Given the description of an element on the screen output the (x, y) to click on. 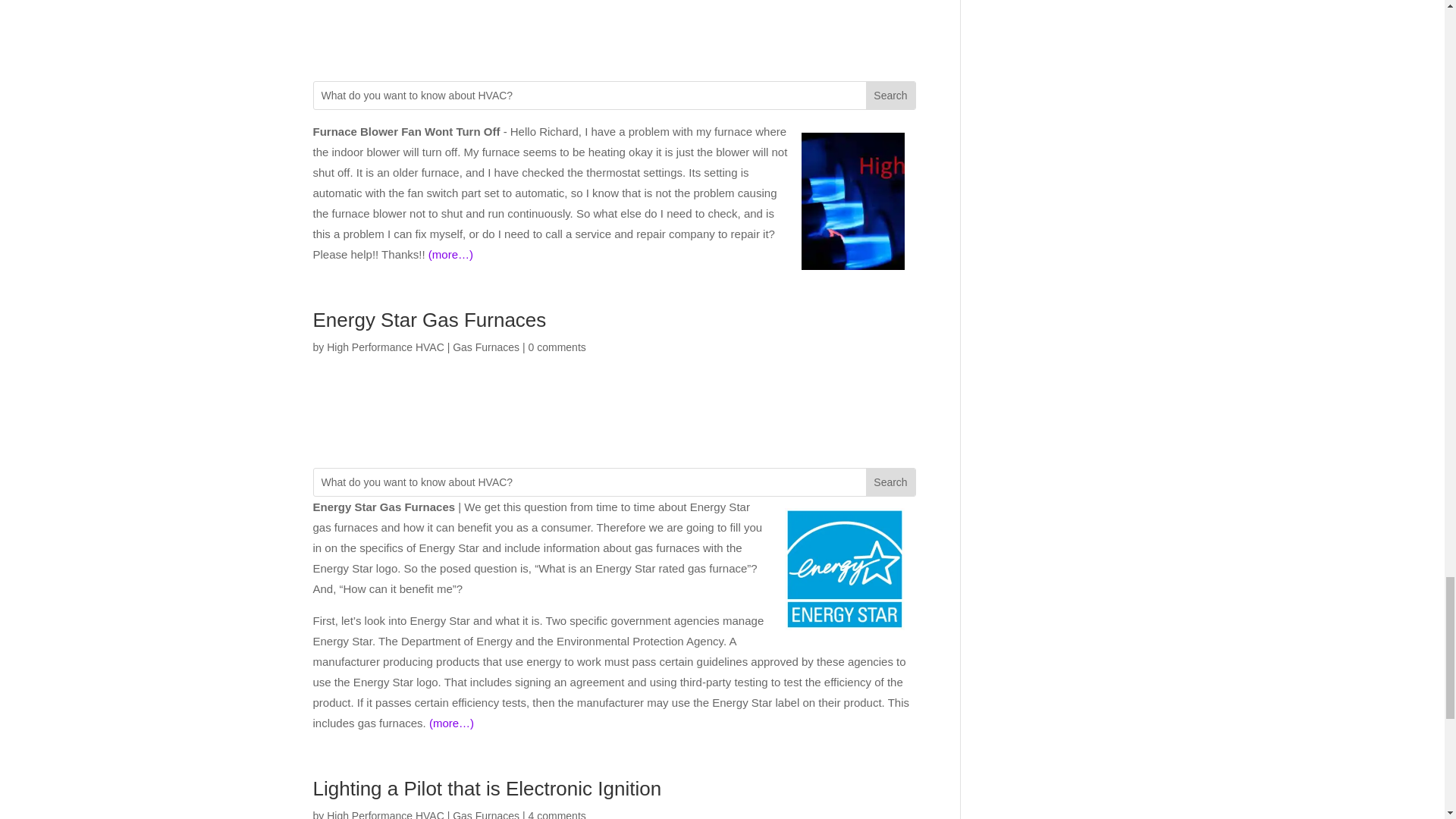
Search (890, 94)
Posts by High Performance HVAC (385, 346)
Search (890, 482)
Search (890, 94)
Posts by High Performance HVAC (385, 814)
Search (890, 482)
